Given the description of an element on the screen output the (x, y) to click on. 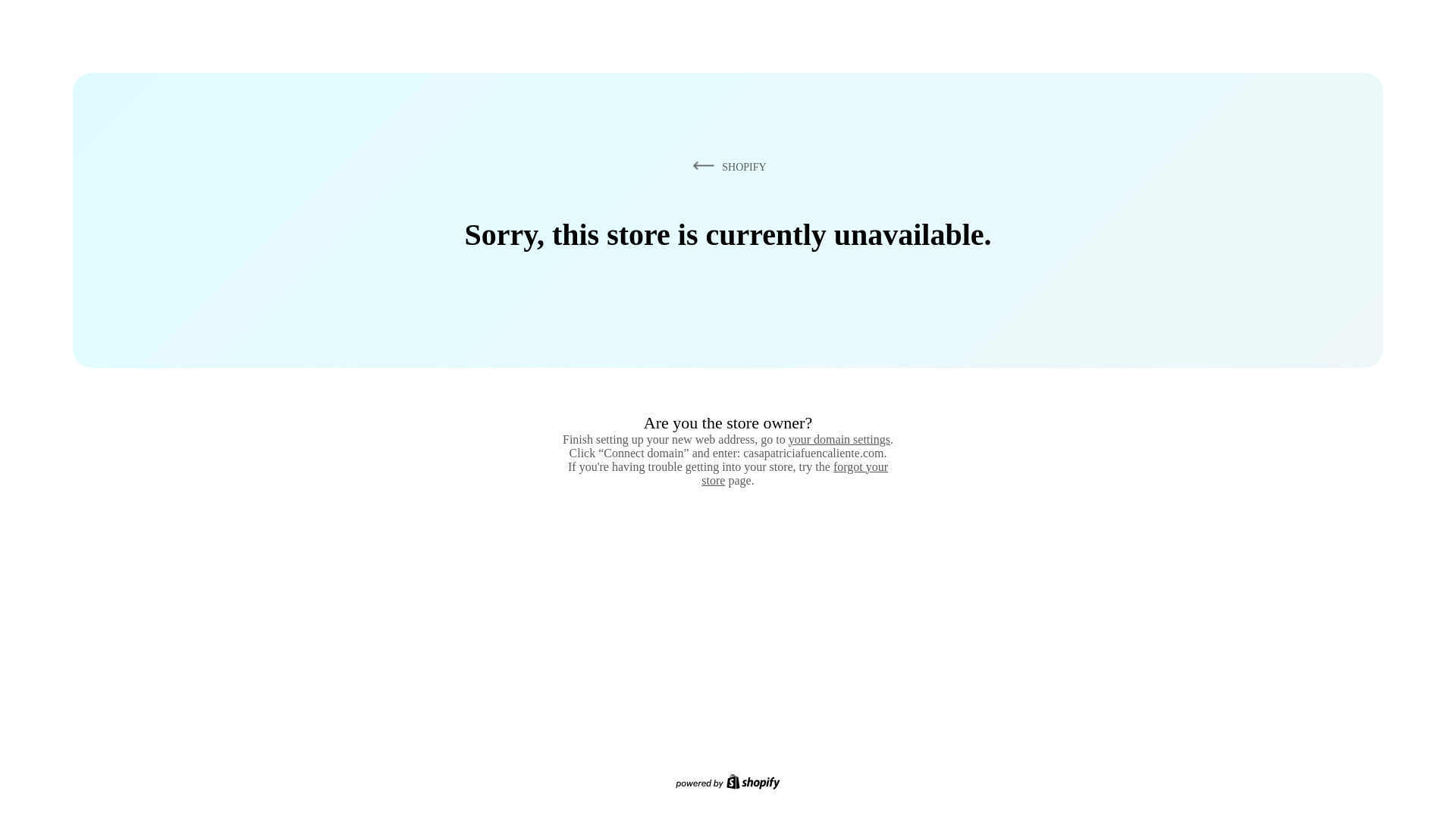
SHOPIFY (726, 166)
forgot your store (794, 473)
your domain settings (839, 439)
